Given the description of an element on the screen output the (x, y) to click on. 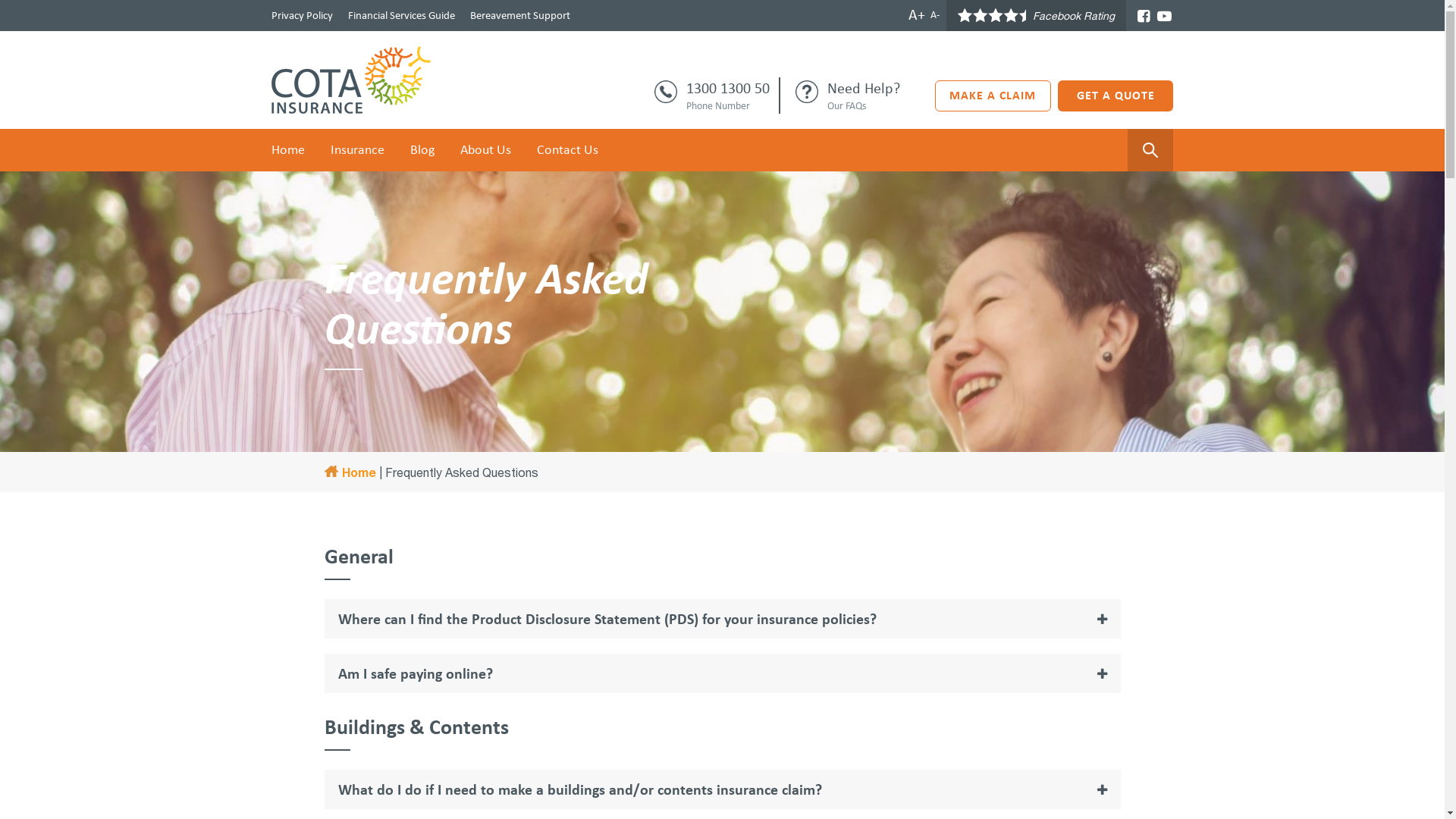
A- Element type: text (933, 14)
Bereavement Support Element type: text (520, 15)
Privacy Policy Element type: text (304, 15)
MAKE A CLAIM Element type: text (993, 95)
About Us Element type: text (485, 149)
A+ Element type: text (916, 14)
Insurance Element type: text (356, 149)
Home Element type: text (293, 149)
Contact Us Element type: text (566, 149)
Search Element type: text (39, 15)
Blog Element type: text (421, 149)
GET A QUOTE Element type: text (1115, 95)
1300 1300 50 Element type: text (727, 87)
Home Element type: text (350, 471)
Need Help? Element type: text (863, 87)
Financial Services Guide Element type: text (400, 15)
